Given the description of an element on the screen output the (x, y) to click on. 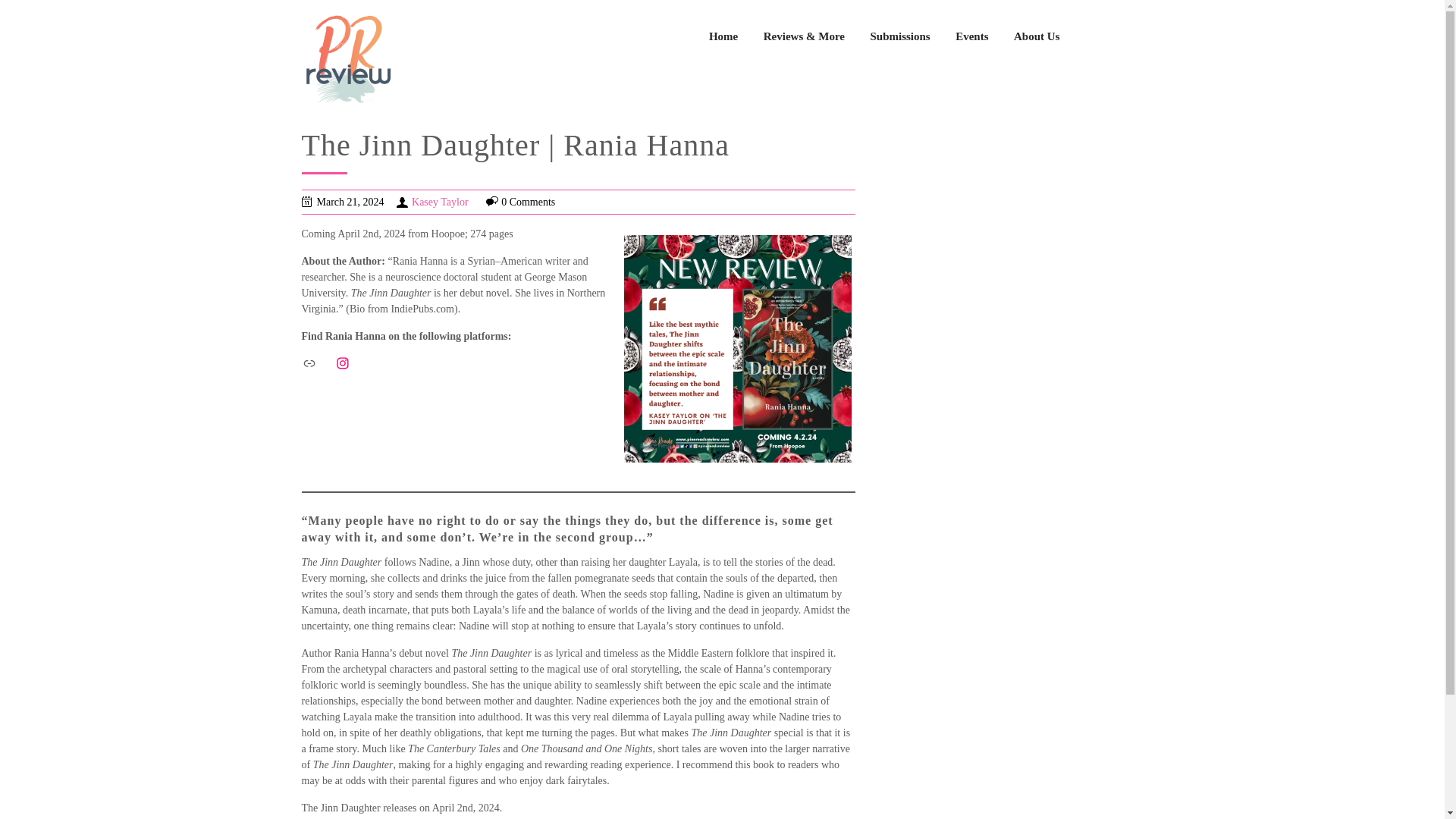
Events (971, 36)
About Us (1036, 36)
Submissions (899, 36)
Home (723, 36)
Kasey Taylor (440, 202)
